Given the description of an element on the screen output the (x, y) to click on. 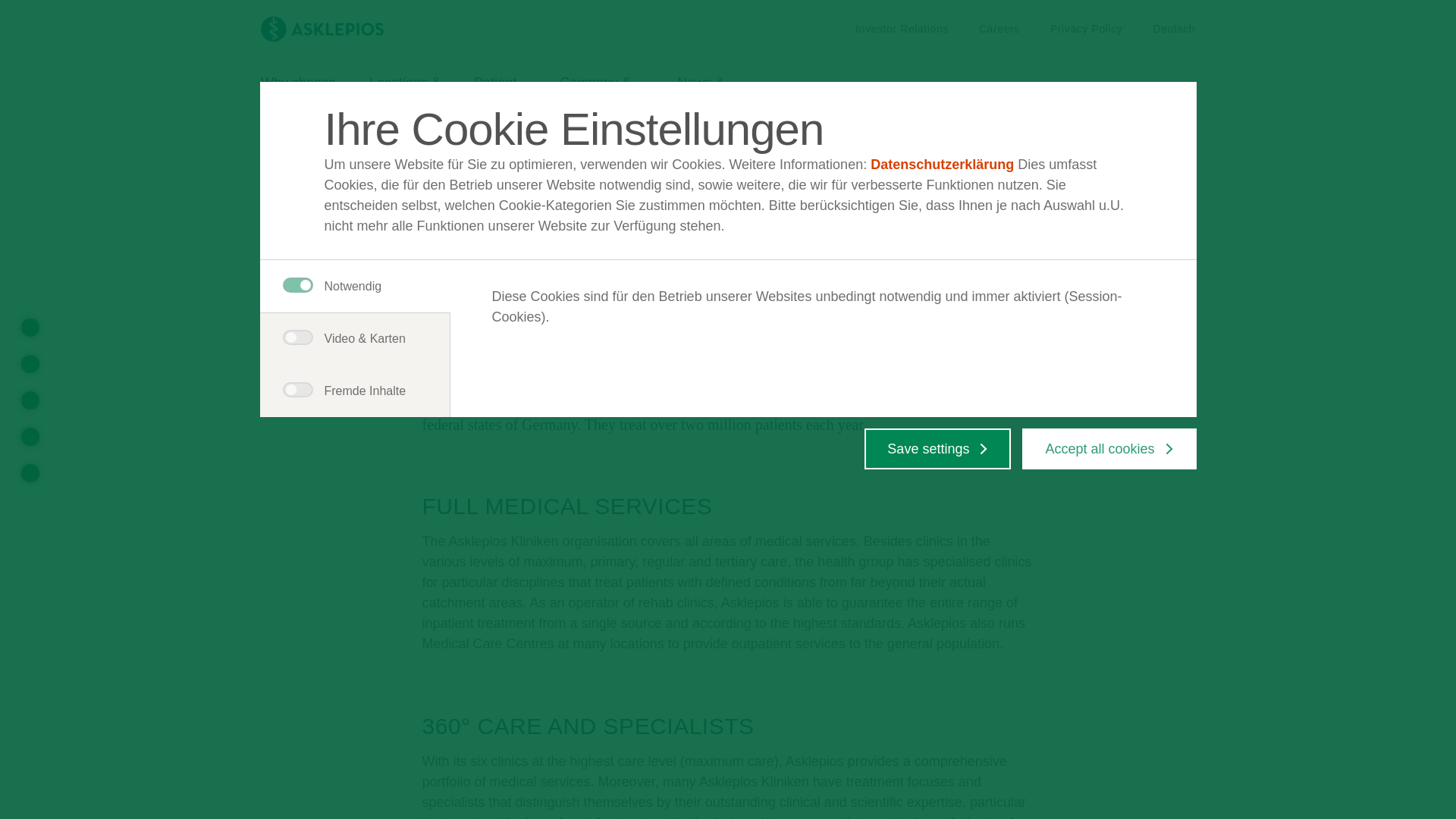
Privacy Policy (1085, 29)
Medical Excellence (654, 133)
Investor Relations (902, 29)
Deutsch (1174, 29)
Centers of Excellence (30, 436)
Full Medical Services (30, 327)
Careers (999, 29)
Combined Competency (298, 96)
Experience and Equipment (30, 473)
Asklepios Kliniken International (30, 400)
Careers (341, 133)
Investor Relations (999, 29)
Why choose Asklepios (499, 96)
